Given the description of an element on the screen output the (x, y) to click on. 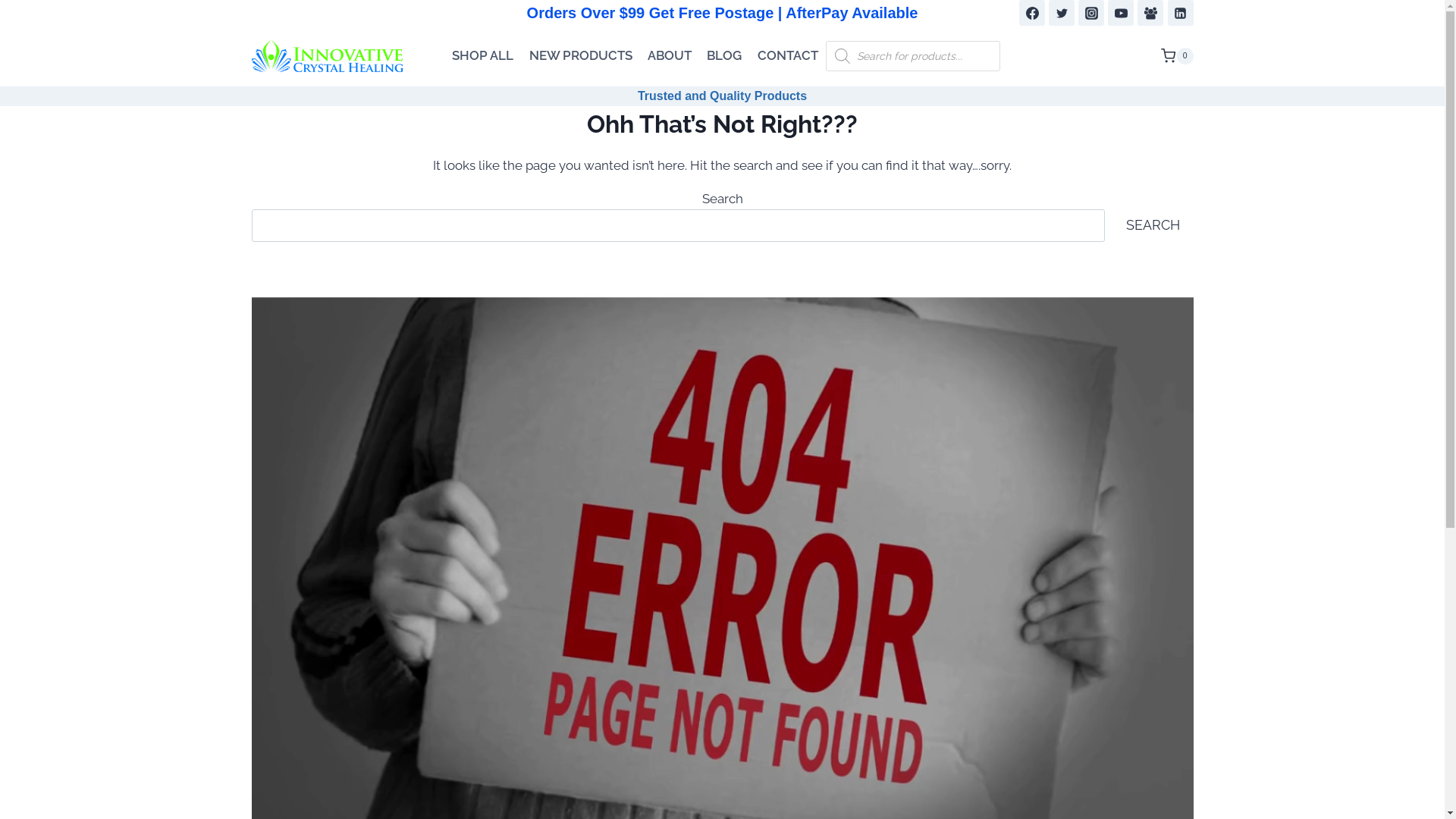
NEW PRODUCTS Element type: text (579, 55)
0 Element type: text (1176, 55)
ABOUT Element type: text (669, 55)
SHOP ALL Element type: text (482, 55)
CONTACT Element type: text (787, 55)
BLOG Element type: text (724, 55)
SEARCH Element type: text (1151, 225)
